Given the description of an element on the screen output the (x, y) to click on. 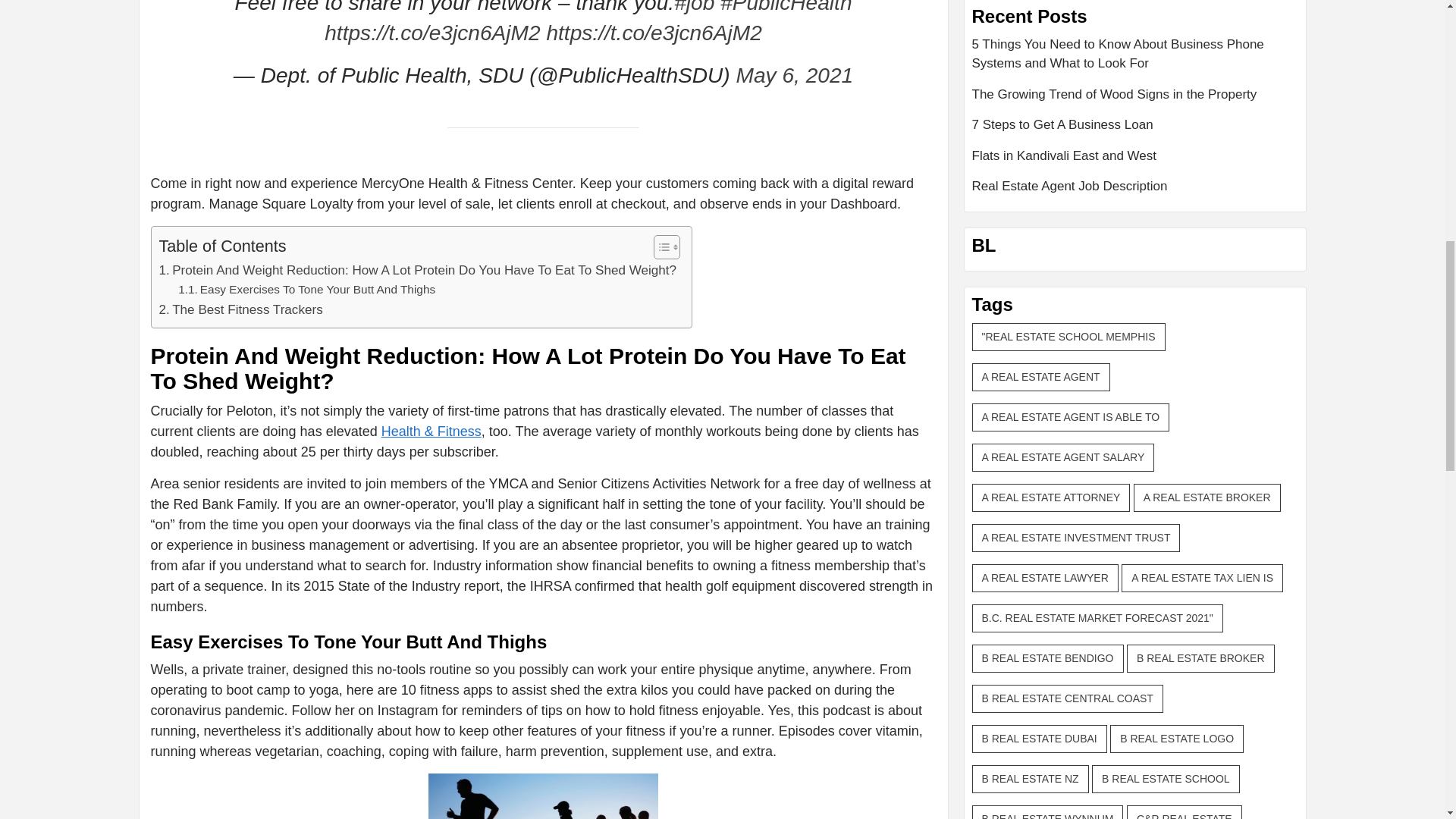
Easy Exercises To Tone Your Butt And Thighs (306, 289)
May 6, 2021 (794, 74)
Easy Exercises To Tone Your Butt And Thighs (306, 289)
The Growing Trend of Wood Signs in the Property (1135, 100)
The Best Fitness Trackers (240, 309)
The Best Fitness Trackers (240, 309)
